Given the description of an element on the screen output the (x, y) to click on. 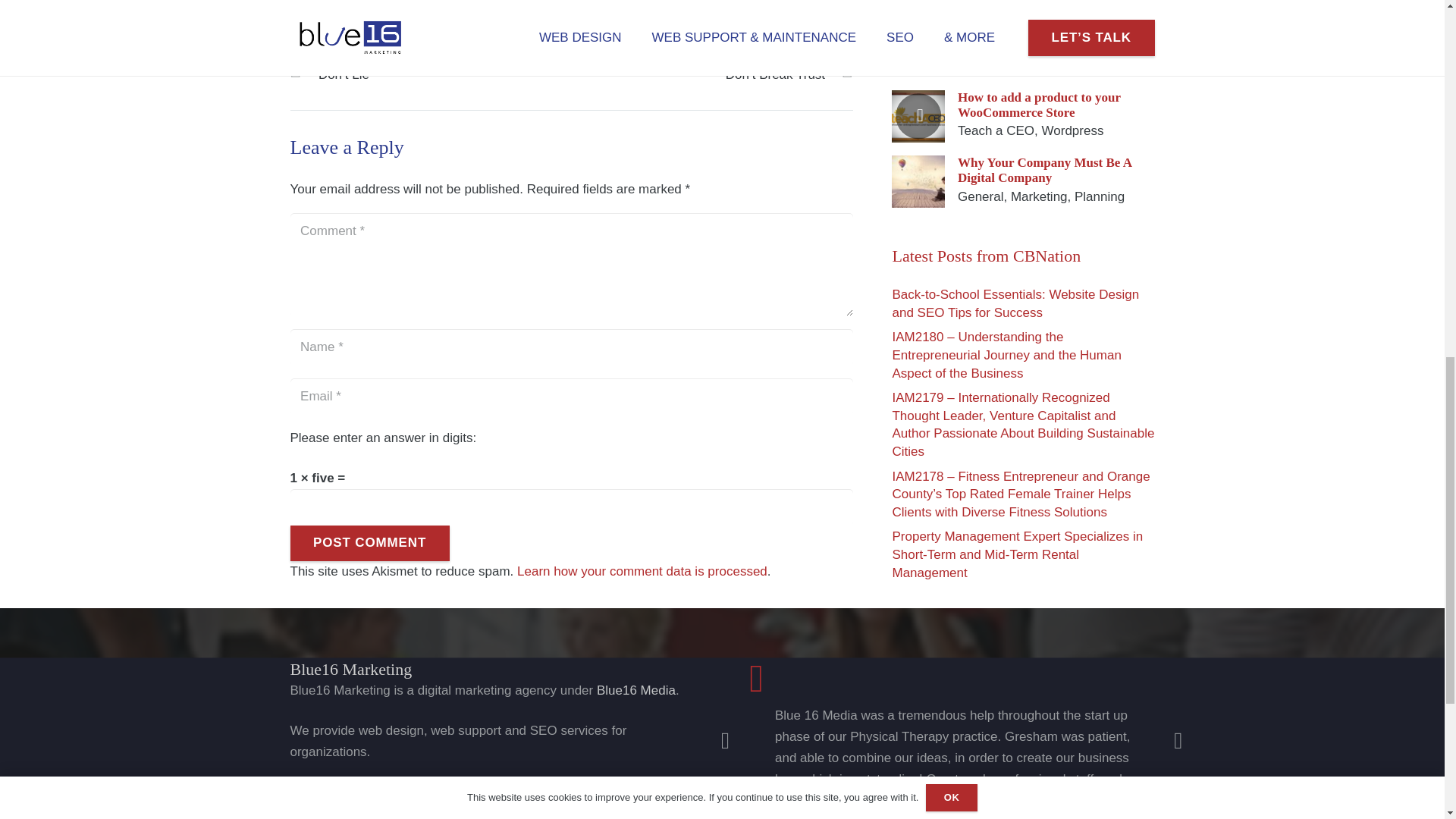
Learn how your comment data is processed (641, 571)
POST COMMENT (368, 543)
Back to top (1413, 26)
